Given the description of an element on the screen output the (x, y) to click on. 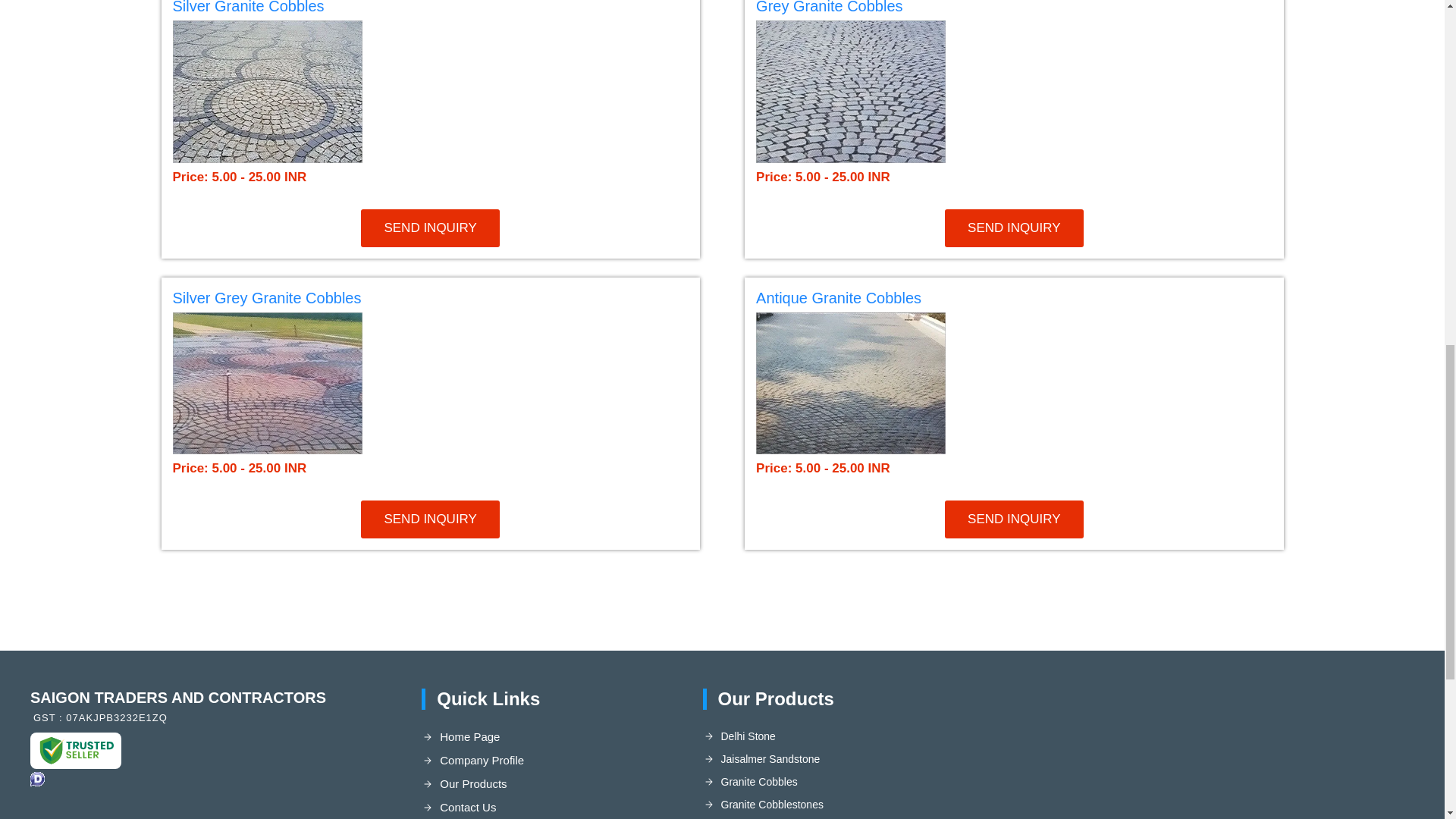
SEND INQUIRY (430, 228)
SEND INQUIRY (1013, 519)
Grey Granite Cobbles (828, 7)
Accepts only Domestic Inquiries (37, 779)
Silver Grey Granite Cobbles (430, 300)
Silver Granite Cobbles (248, 7)
Antique Granite Cobbles (1013, 300)
SEND INQUIRY (1013, 228)
Grey Granite Cobbles (1013, 10)
SEND INQUIRY (430, 519)
Antique Granite Cobbles (838, 297)
Silver Grey Granite Cobbles (267, 297)
Silver Granite Cobbles (430, 10)
